Given the description of an element on the screen output the (x, y) to click on. 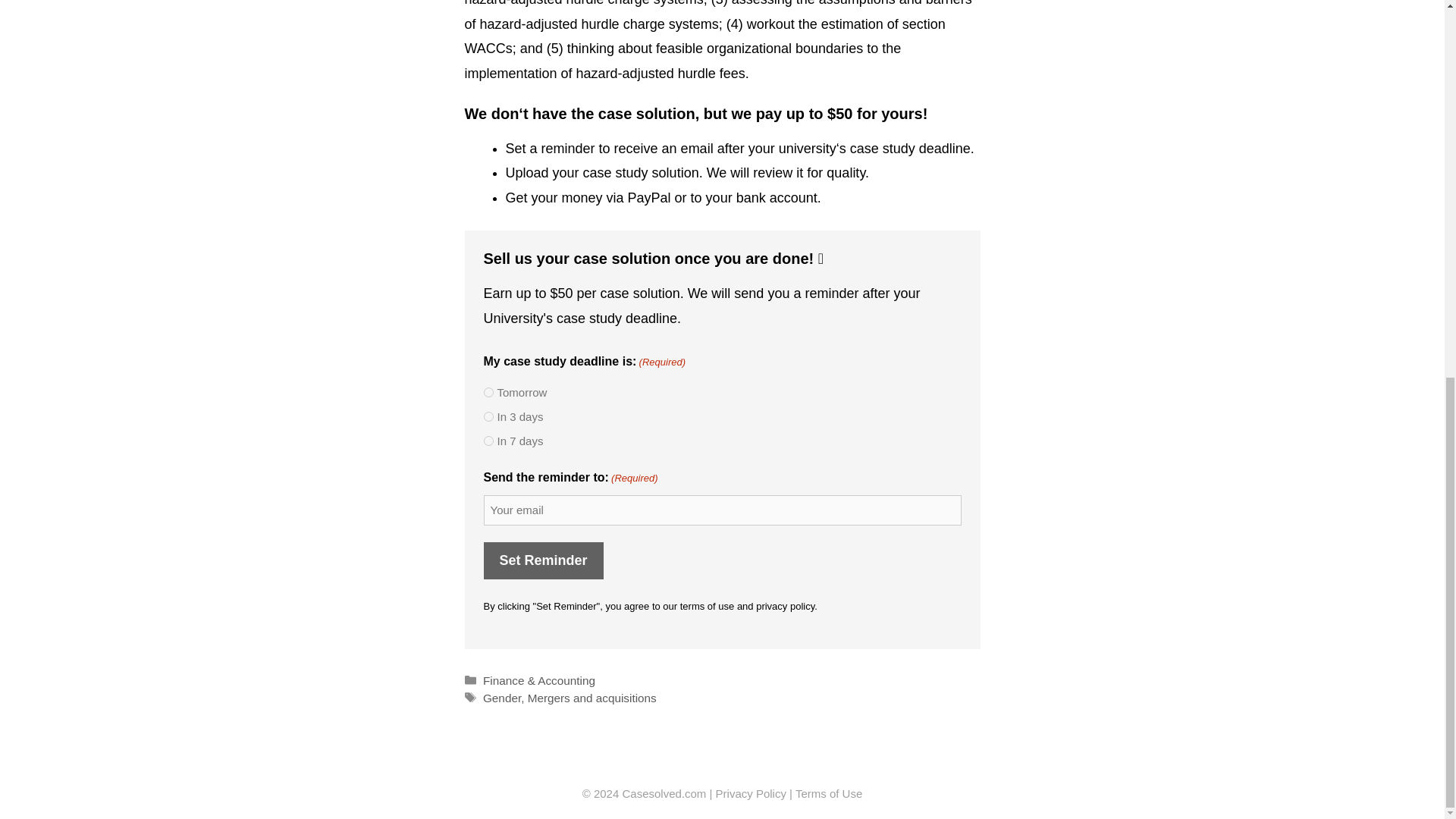
Gender (502, 697)
Mergers and acquisitions (591, 697)
7 (488, 440)
Set Reminder (543, 560)
1 (488, 392)
Set Reminder (543, 560)
Terms of Use (827, 793)
3 (488, 416)
Privacy Policy (751, 793)
